Given the description of an element on the screen output the (x, y) to click on. 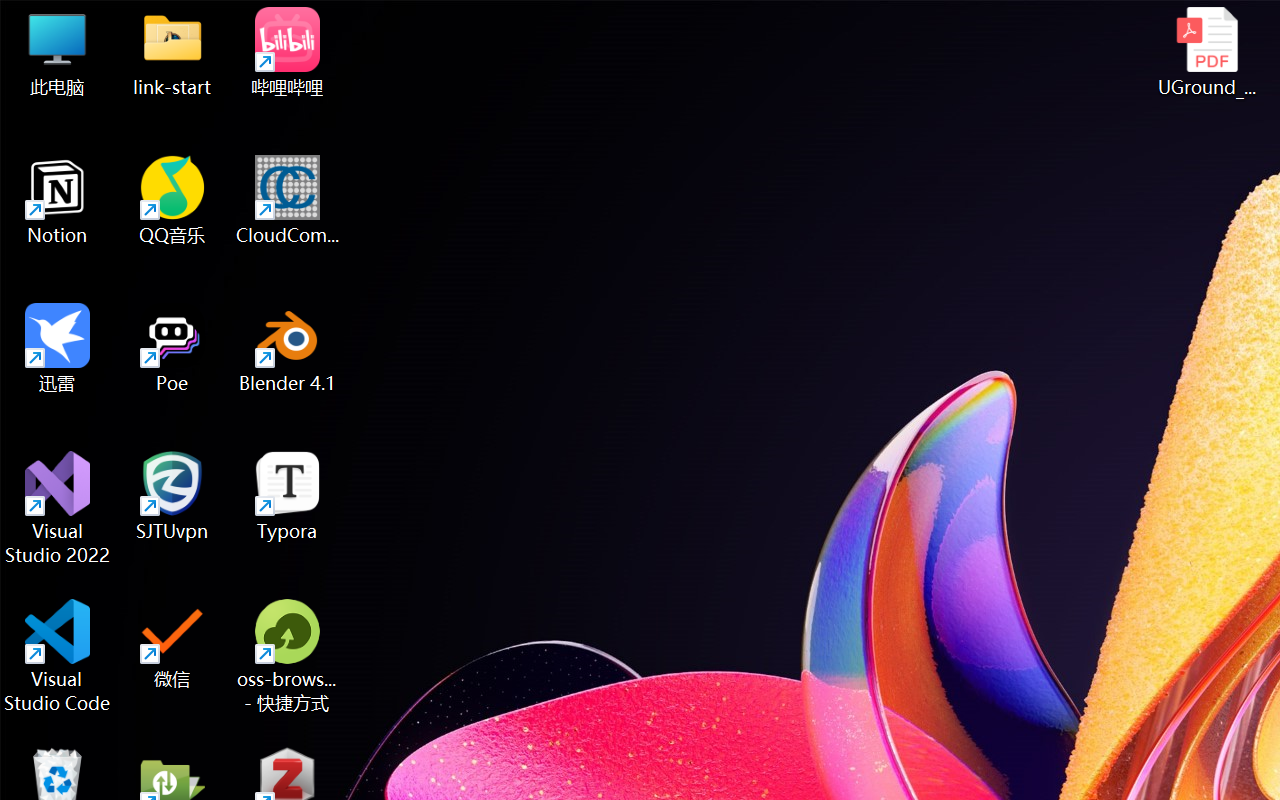
SJTUvpn (172, 496)
Blender 4.1 (287, 348)
CloudCompare (287, 200)
Visual Studio 2022 (57, 508)
Visual Studio Code (57, 656)
Typora (287, 496)
UGround_paper.pdf (1206, 52)
